Given the description of an element on the screen output the (x, y) to click on. 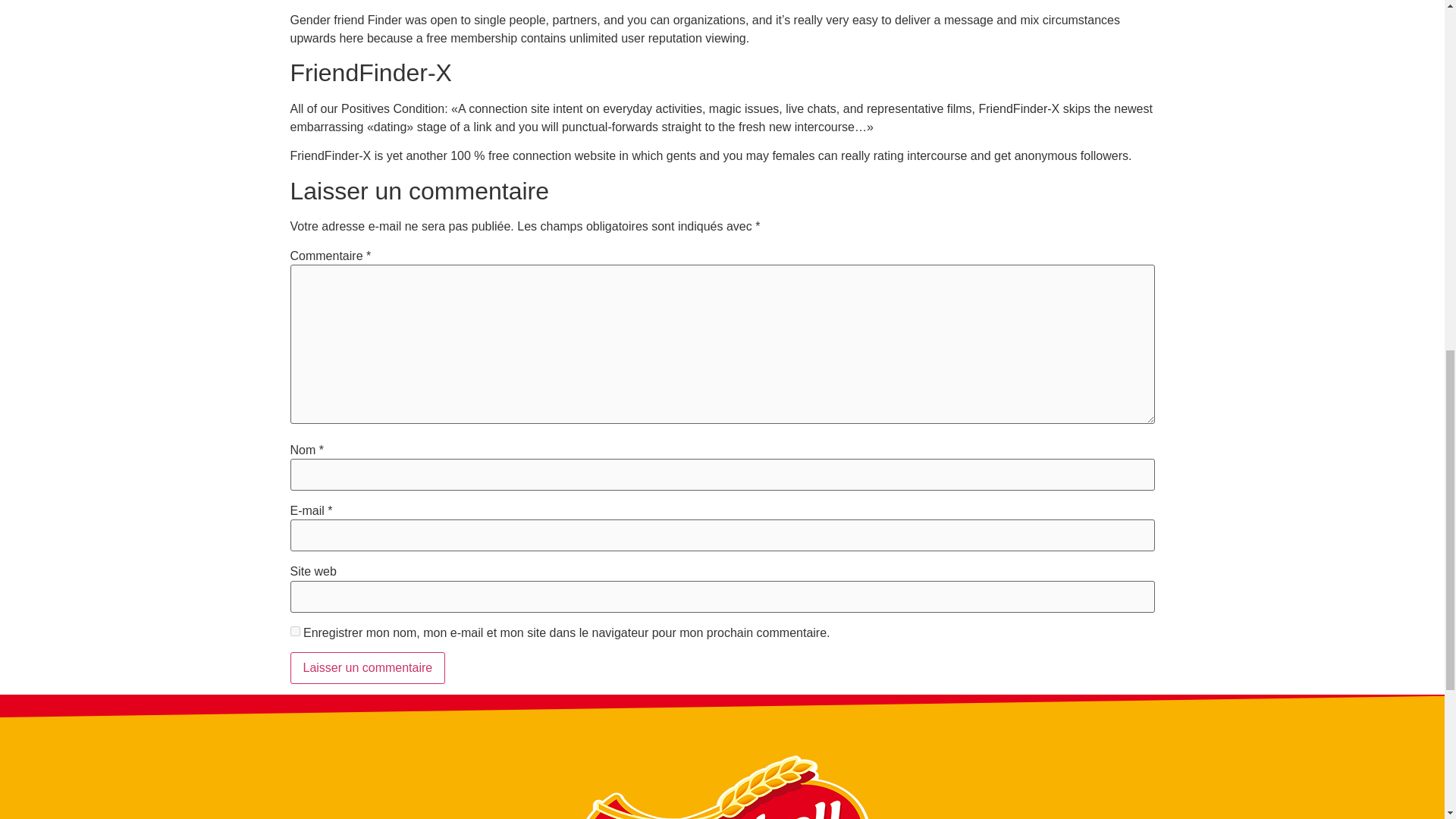
yes (294, 631)
Laisser un commentaire (367, 667)
Laisser un commentaire (367, 667)
